Given the description of an element on the screen output the (x, y) to click on. 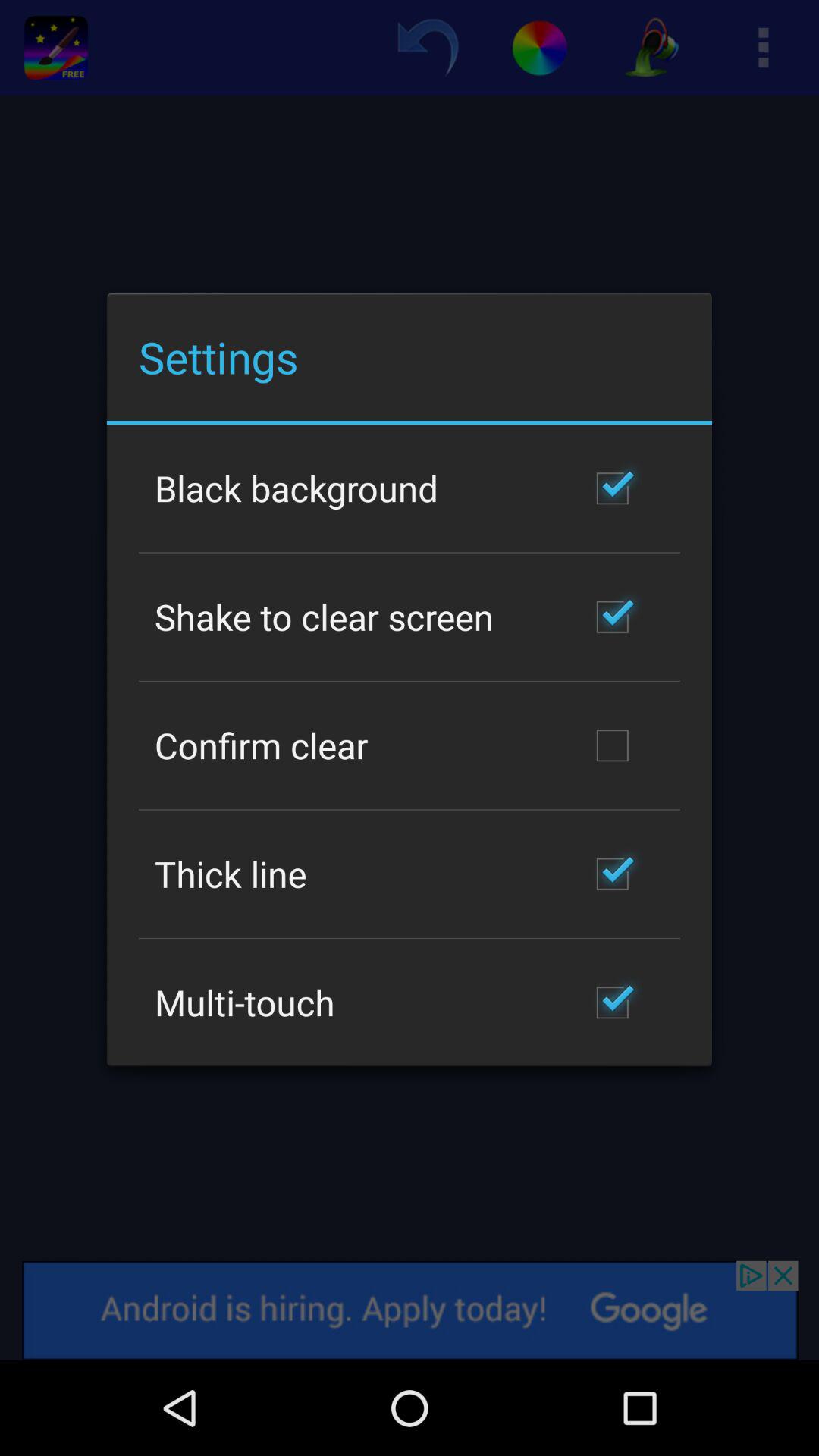
scroll to shake to clear app (323, 616)
